Given the description of an element on the screen output the (x, y) to click on. 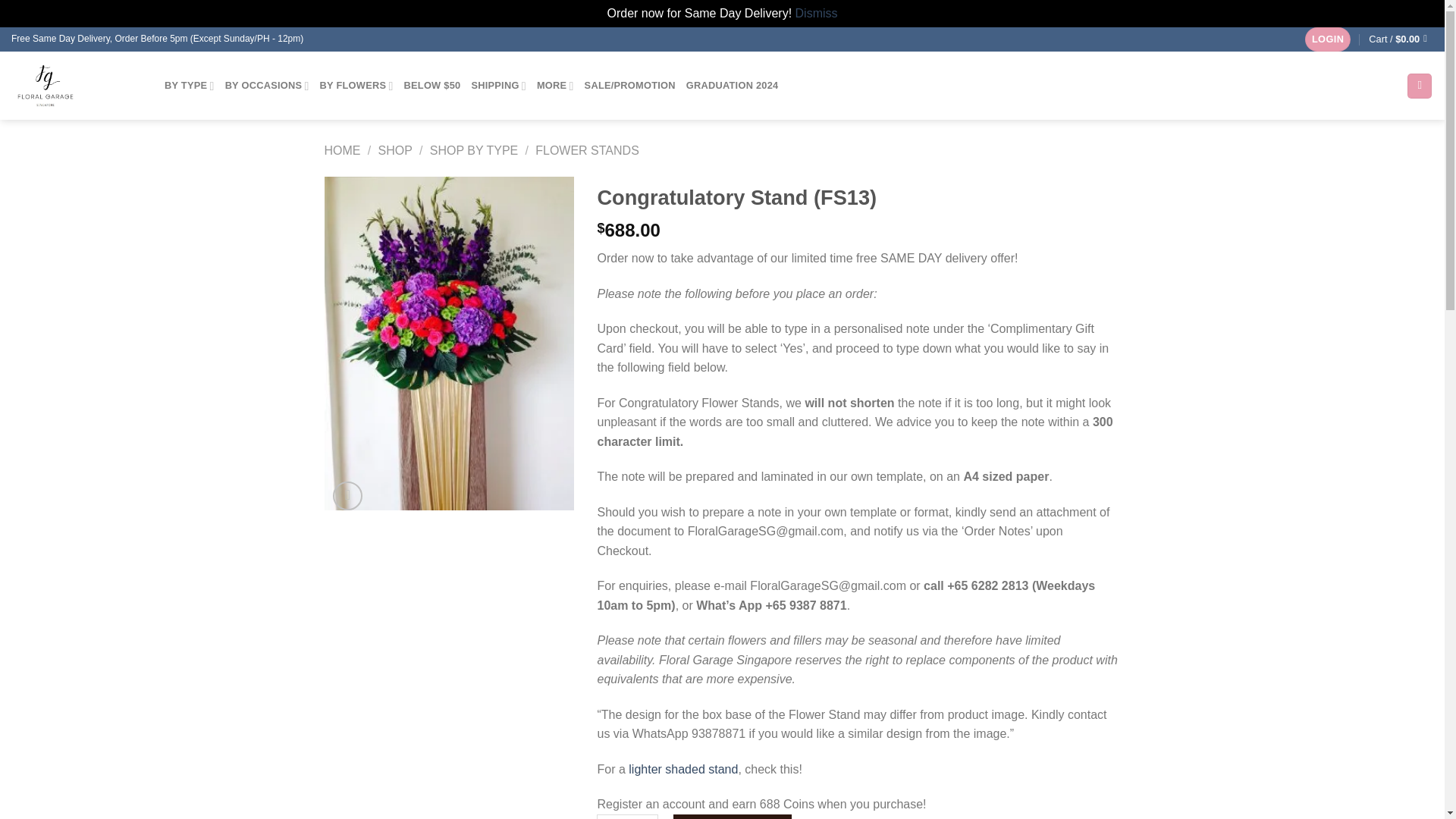
1 (626, 816)
FLORAL GARAGE SG - SINGAPORE'S BEST FLORIST (76, 85)
BY TYPE (189, 85)
Cart (1400, 39)
Qty (626, 816)
- (604, 816)
LOGIN (1327, 39)
Dismiss (816, 12)
